Given the description of an element on the screen output the (x, y) to click on. 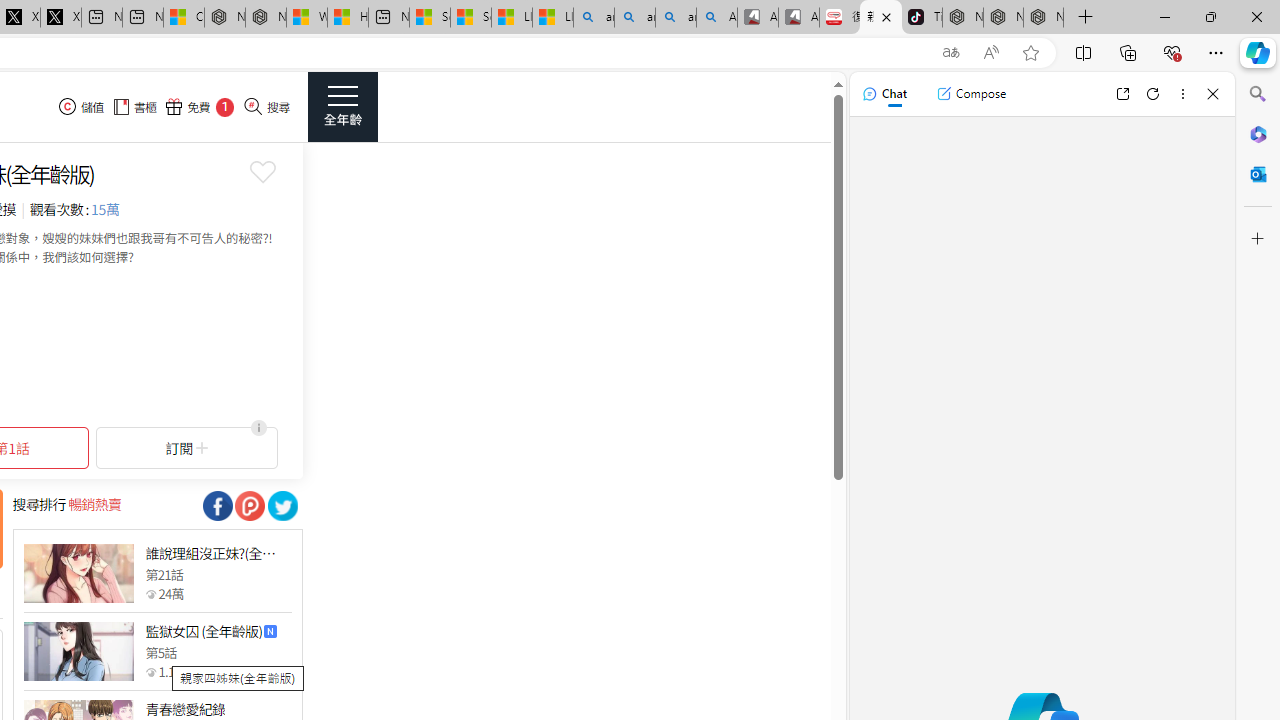
Class: thumb_img (78, 651)
Microsoft 365 (1258, 133)
amazon - Search (634, 17)
Amazon Echo Robot - Search Images (717, 17)
